Given the description of an element on the screen output the (x, y) to click on. 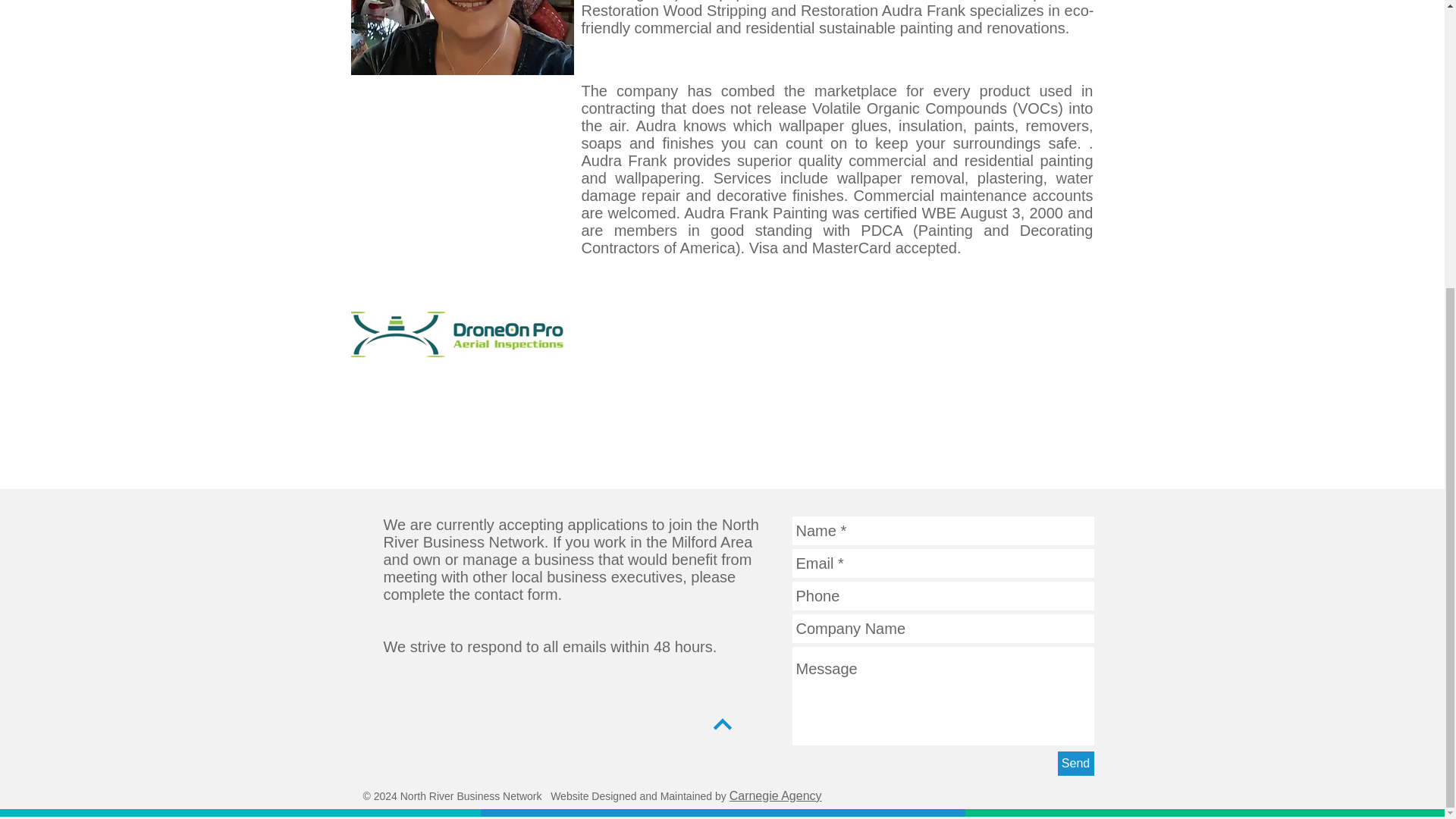
AudraFrankImage.jpeg (461, 37)
DroneonProSquare.png (461, 375)
Carnegie Agency (775, 795)
Send (1075, 763)
